Given the description of an element on the screen output the (x, y) to click on. 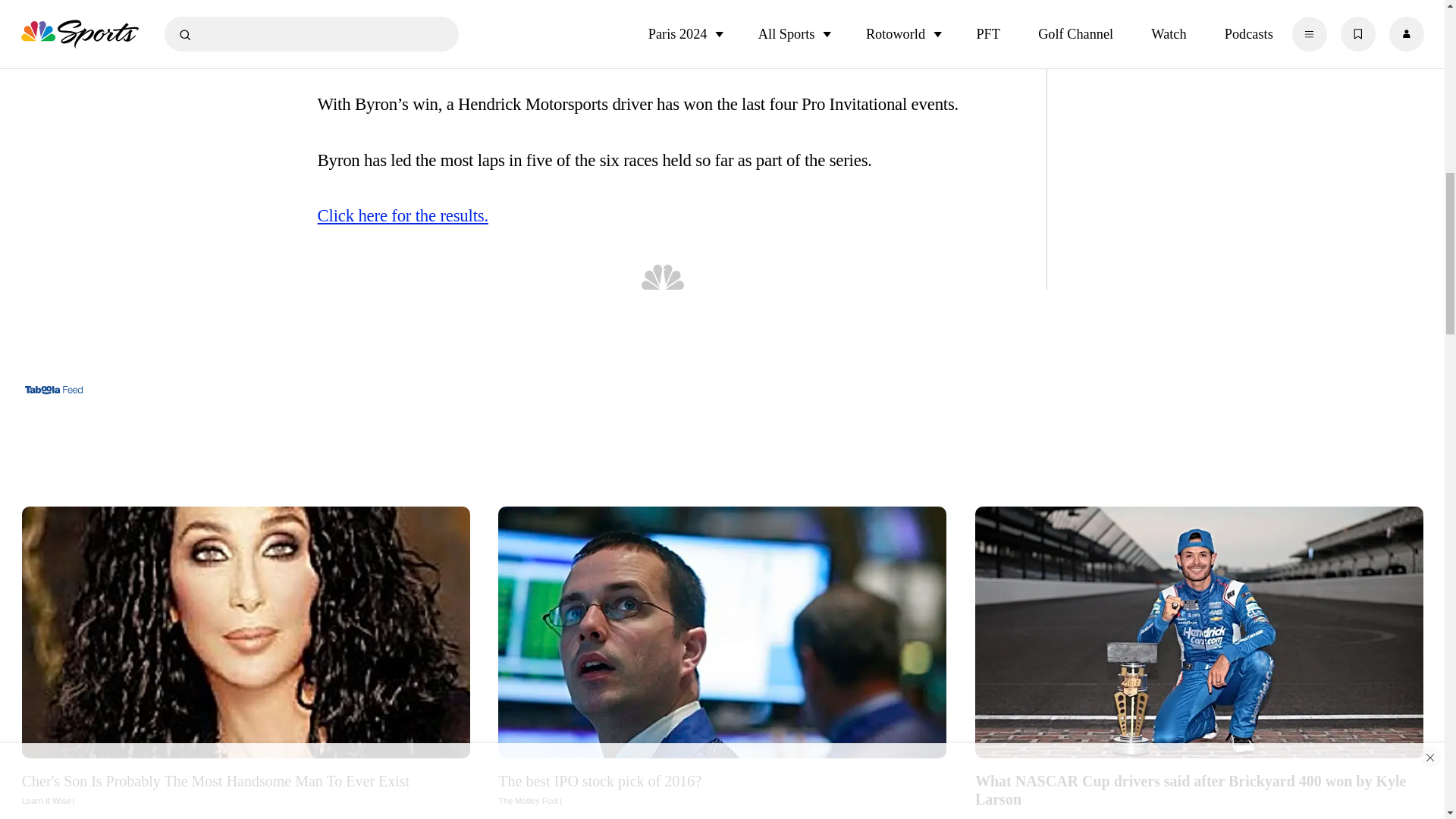
Cher's Son Is Probably The Most Handsome Man To Ever Exist (245, 631)
The best IPO stock pick of 2016? (721, 788)
The best IPO stock pick of 2016? (721, 631)
Cher's Son Is Probably The Most Handsome Man To Ever Exist (245, 788)
